Given the description of an element on the screen output the (x, y) to click on. 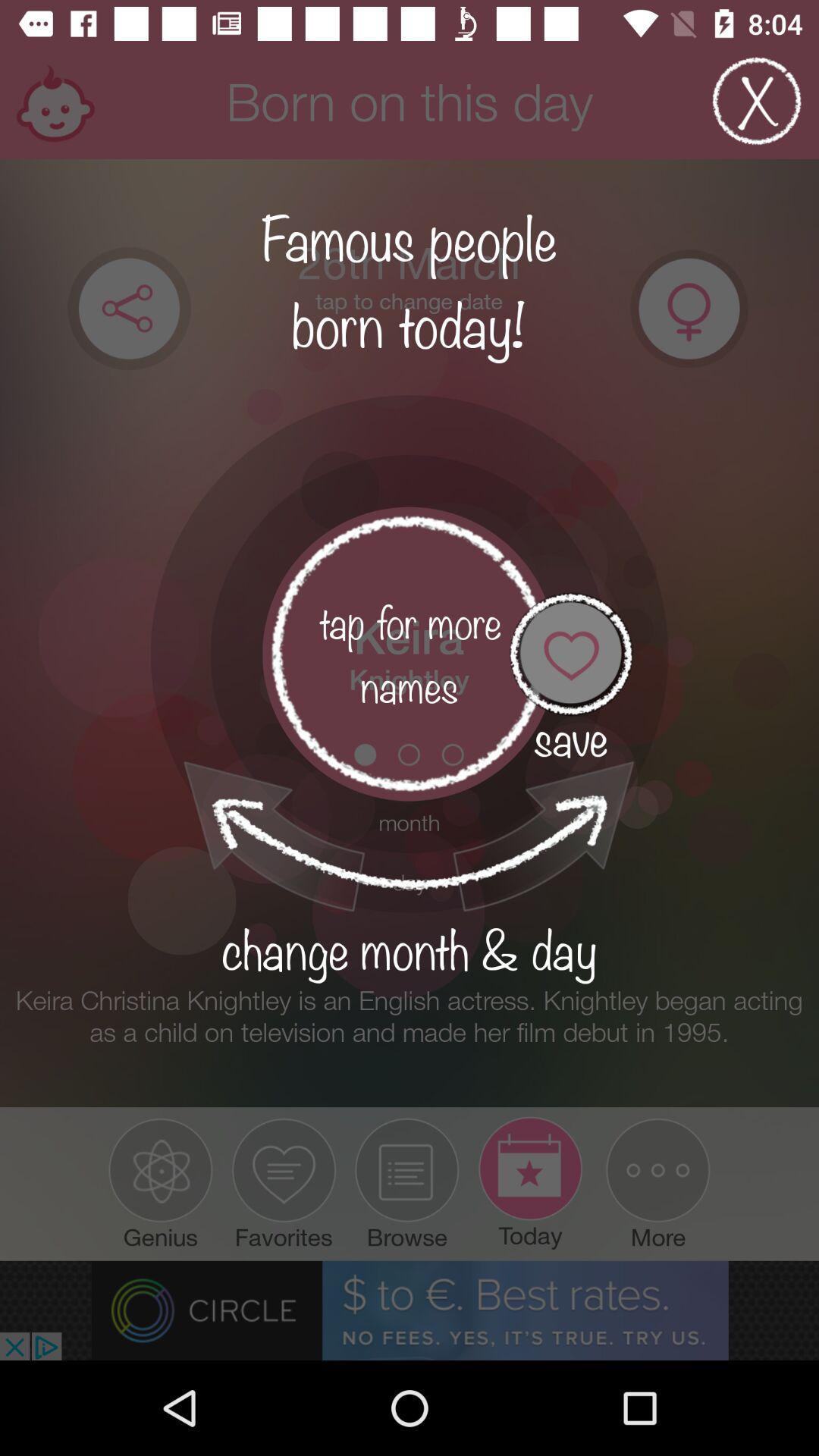
close the page (757, 101)
